Given the description of an element on the screen output the (x, y) to click on. 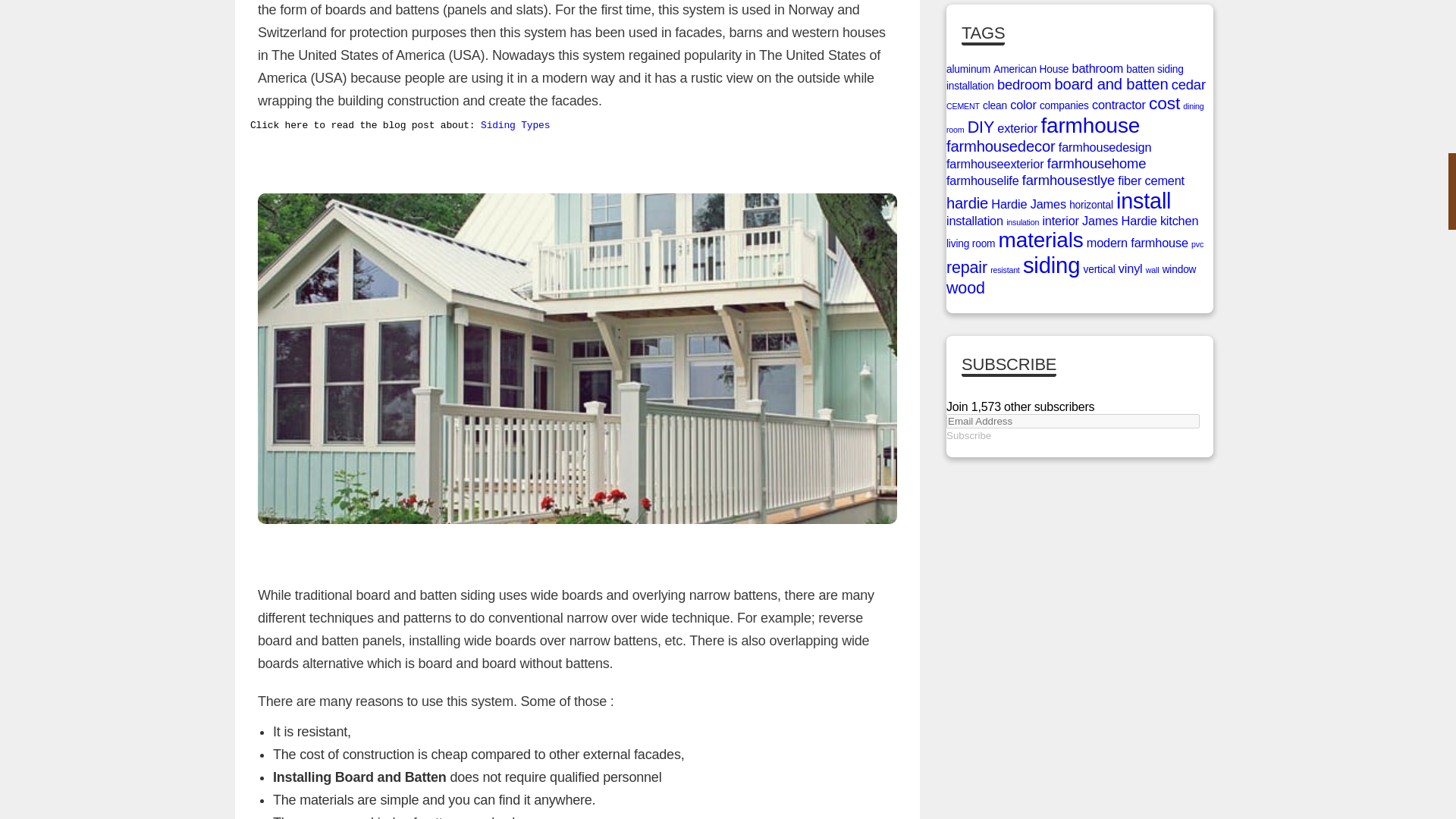
Siding Types (515, 125)
Siding Types (515, 125)
